Given the description of an element on the screen output the (x, y) to click on. 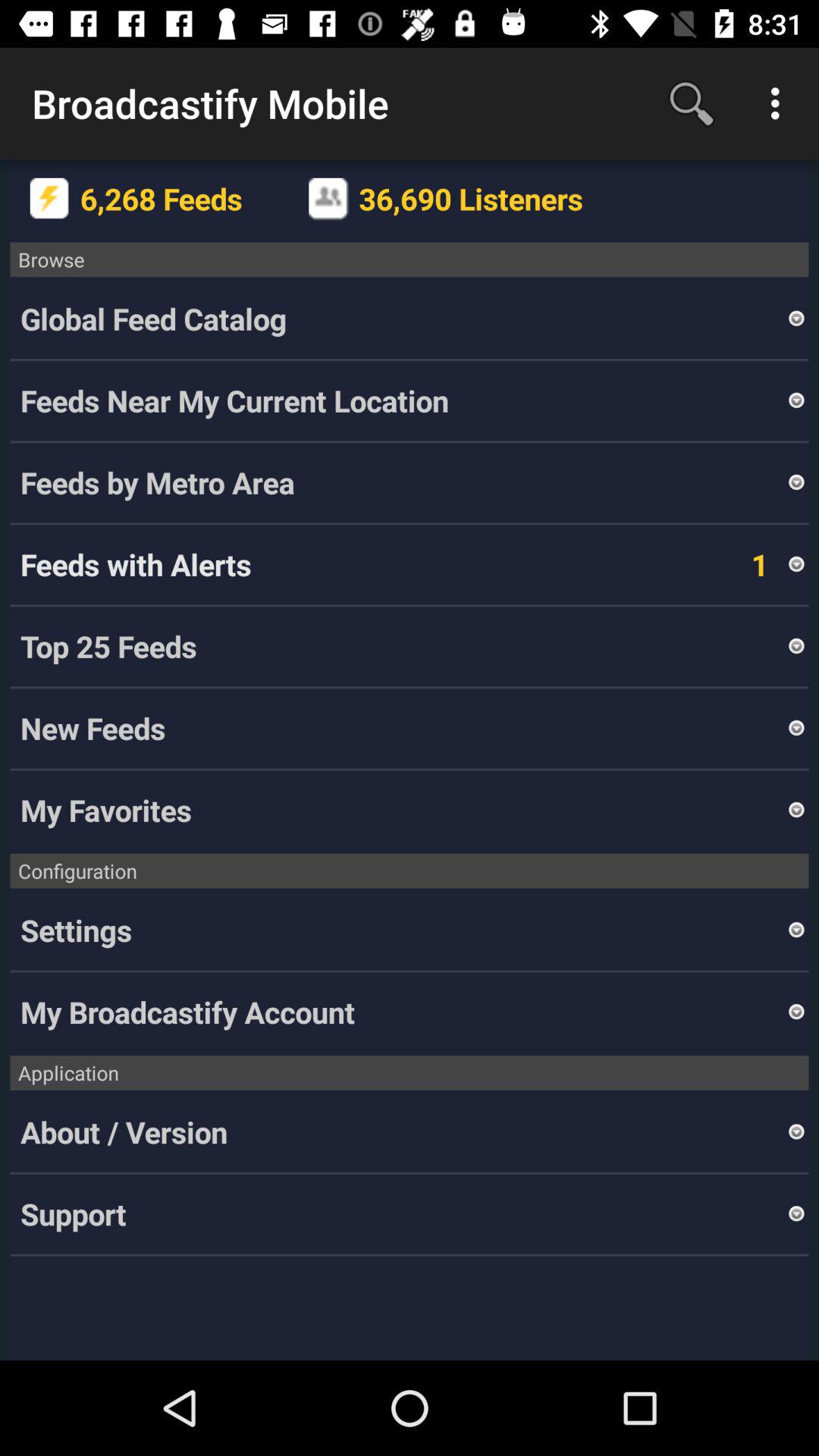
turn on the item above the new feeds item (796, 646)
